Given the description of an element on the screen output the (x, y) to click on. 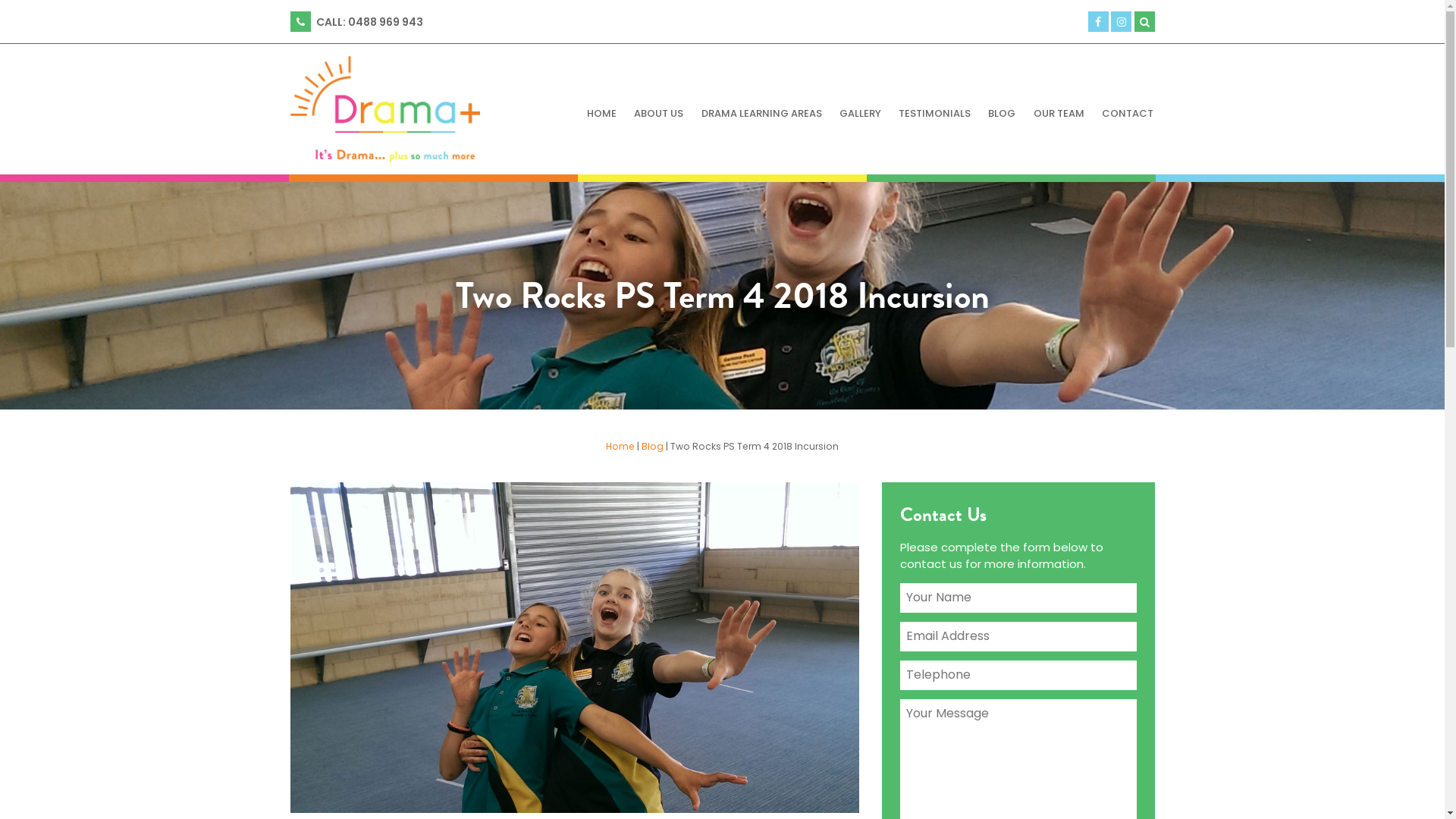
Home Element type: text (619, 445)
OUR TEAM Element type: text (1058, 113)
Drama+ Element type: hover (389, 109)
HOME Element type: text (601, 113)
CONTACT Element type: text (1127, 113)
CALL: 0488 969 943 Element type: text (356, 21)
GALLERY Element type: text (859, 113)
ABOUT US Element type: text (658, 113)
BLOG Element type: text (1001, 113)
TESTIMONIALS Element type: text (934, 113)
Blog Element type: text (652, 445)
DRAMA LEARNING AREAS Element type: text (760, 113)
